Given the description of an element on the screen output the (x, y) to click on. 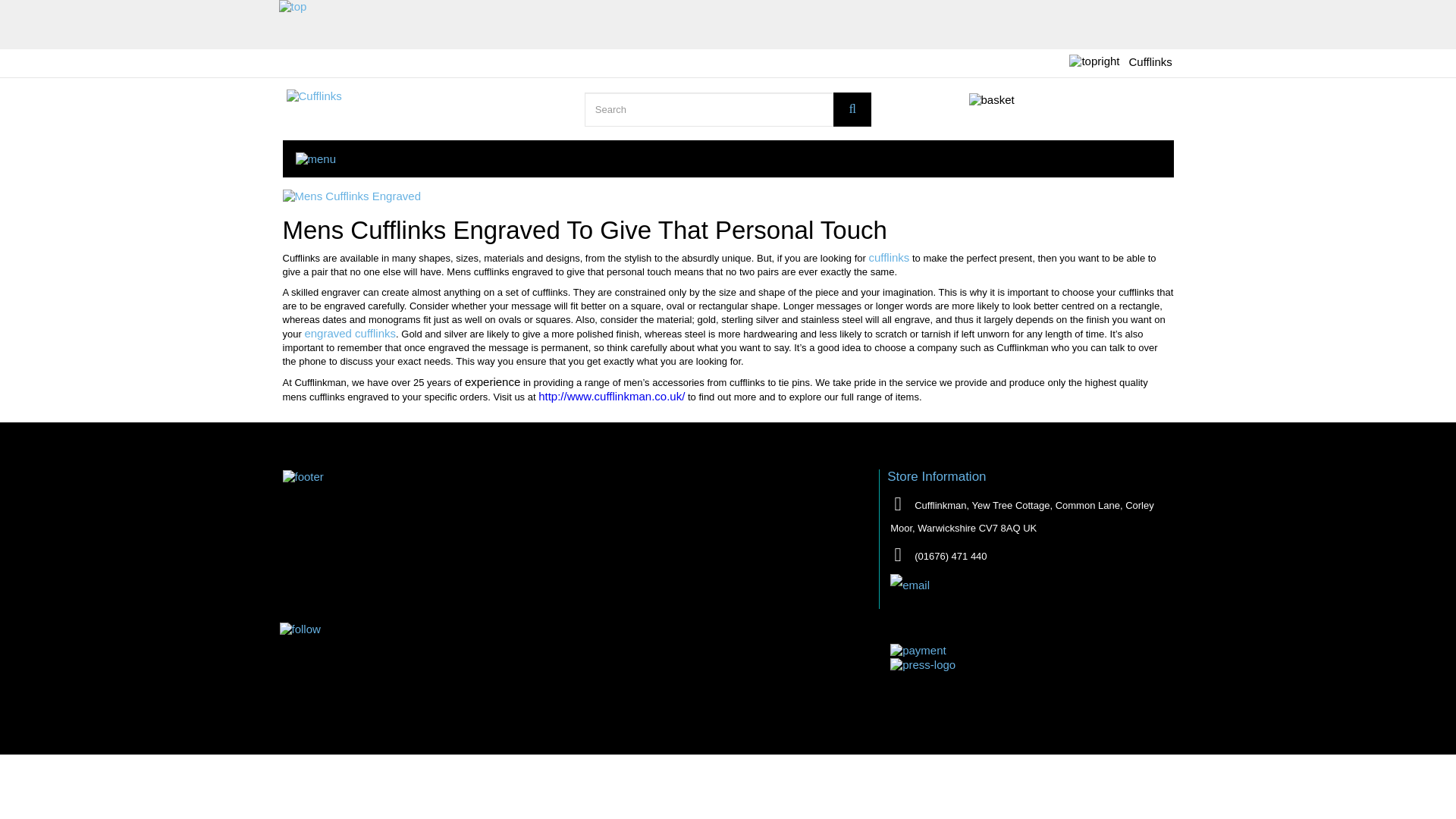
Cufflinkman (426, 110)
Cufflinks (1146, 62)
